Given the description of an element on the screen output the (x, y) to click on. 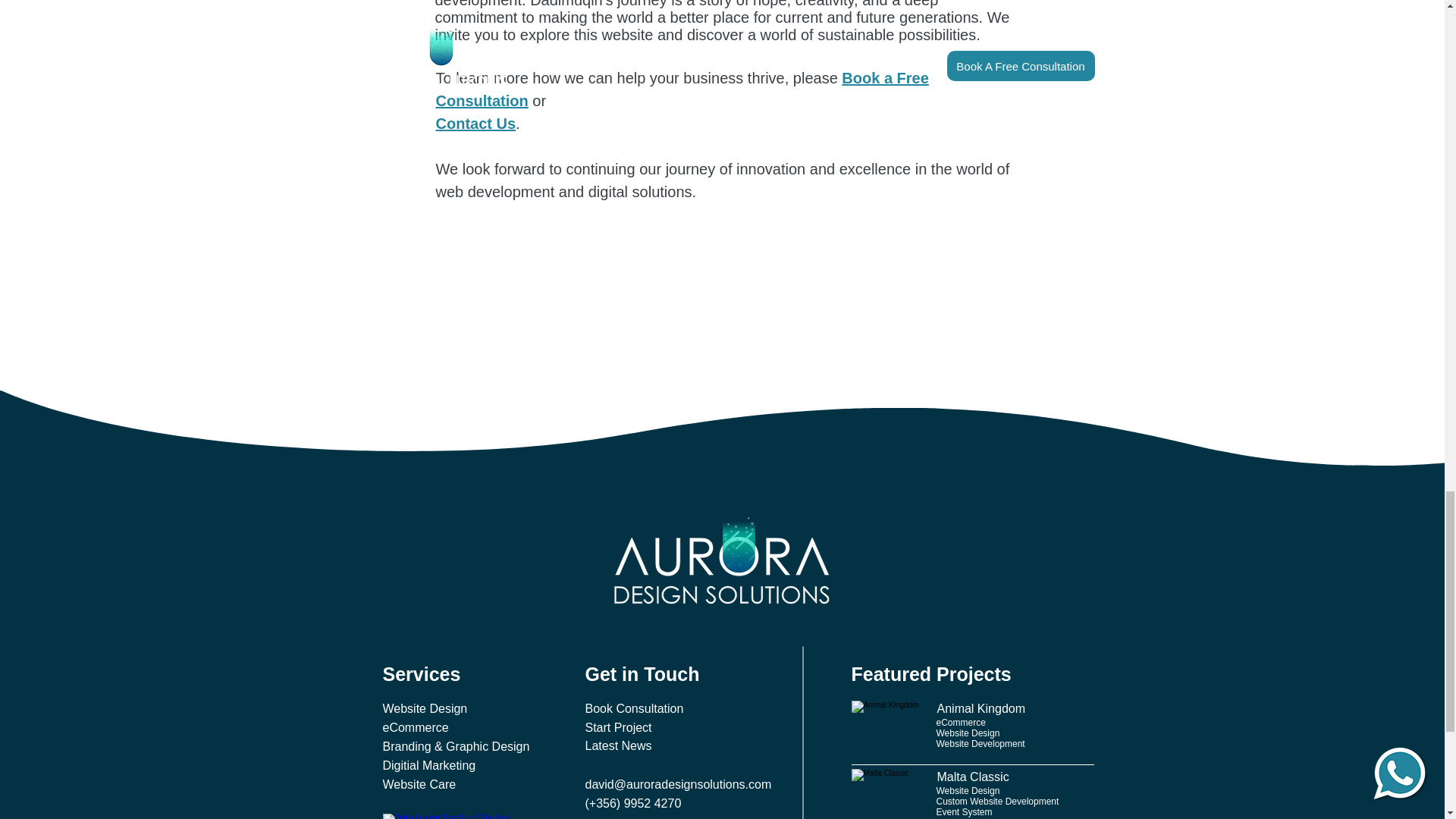
Malta Classic Mockup.png (886, 794)
Website Care (418, 784)
Animal Kingdom Mockuo.png (886, 728)
Book a Free Consultation (681, 88)
Digitial Marketing (428, 765)
Website Design (424, 709)
Contact Us (475, 123)
eCommerce (414, 728)
